Given the description of an element on the screen output the (x, y) to click on. 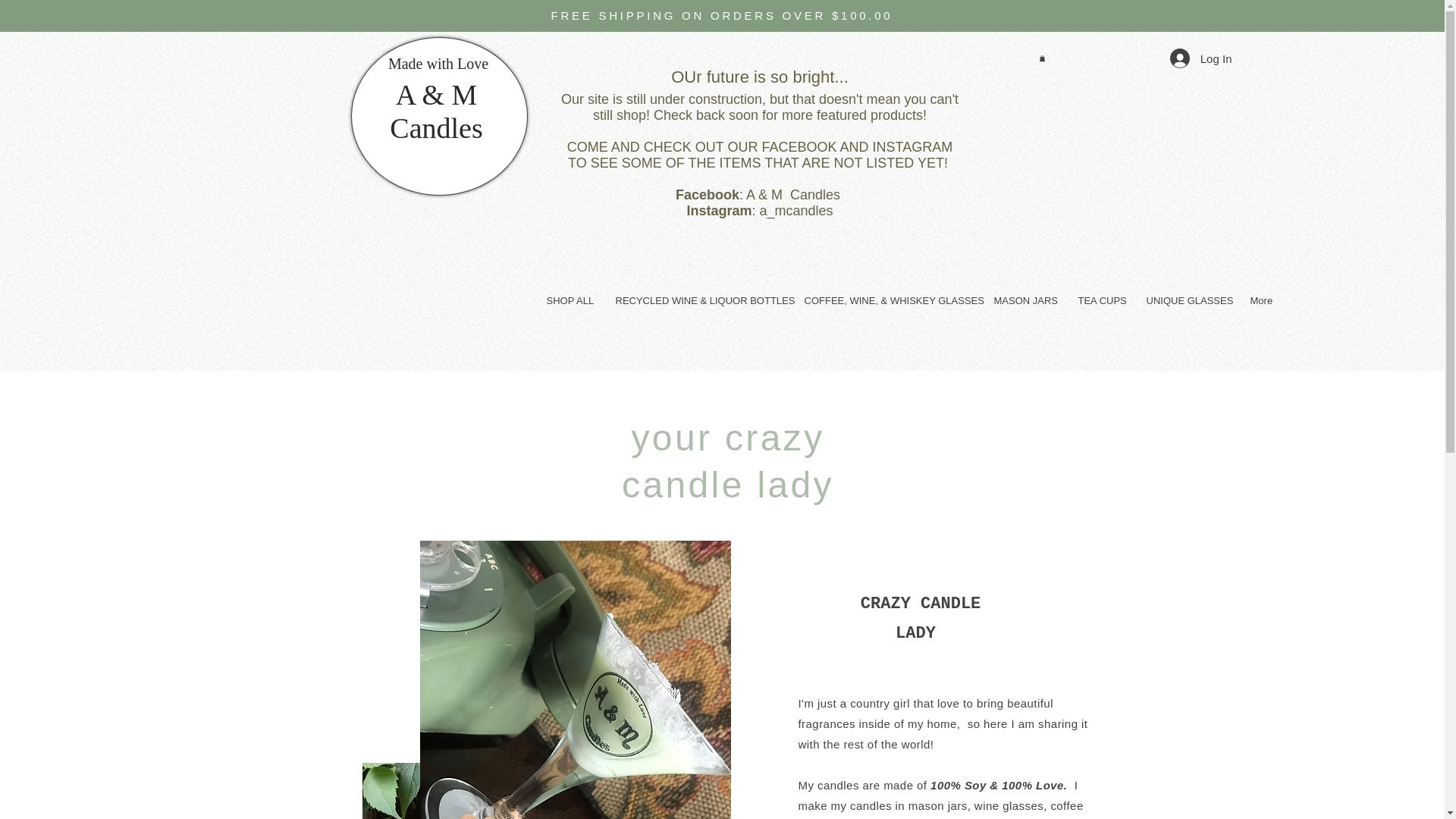
Log In (1200, 58)
UNIQUE GLASSES (1186, 300)
MASON JARS (1024, 300)
SHOP ALL (569, 300)
TEA CUPS (1099, 300)
